Given the description of an element on the screen output the (x, y) to click on. 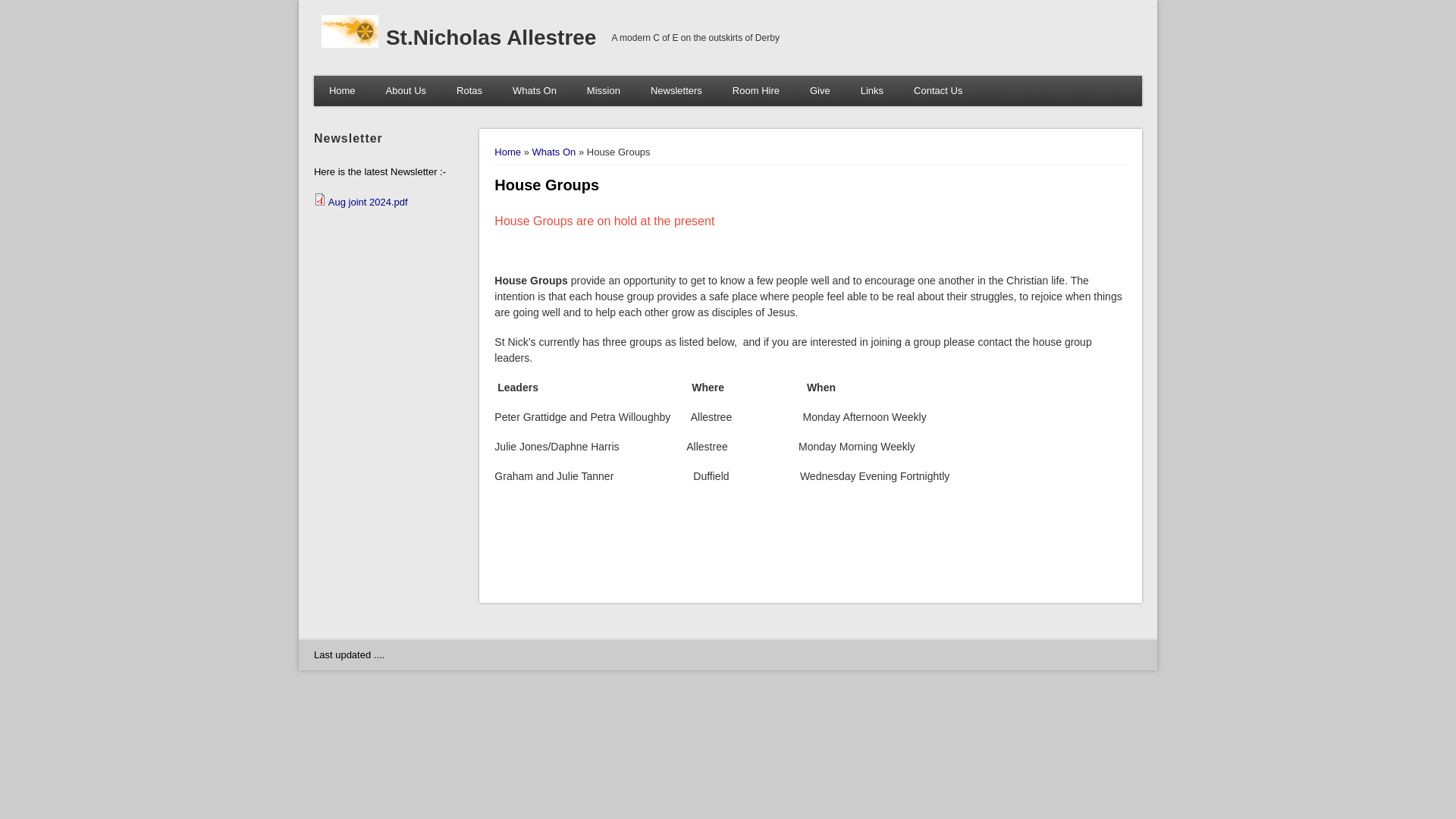
Whats On (554, 152)
About Us (406, 91)
Facilities to hire out (755, 91)
Room Hire (755, 91)
Contact Us (937, 91)
Church Monthly Newsletters (675, 91)
Giving Page (819, 91)
Give (819, 91)
Latest Church Rota (469, 91)
Links to external sites of interest (871, 91)
